Given the description of an element on the screen output the (x, y) to click on. 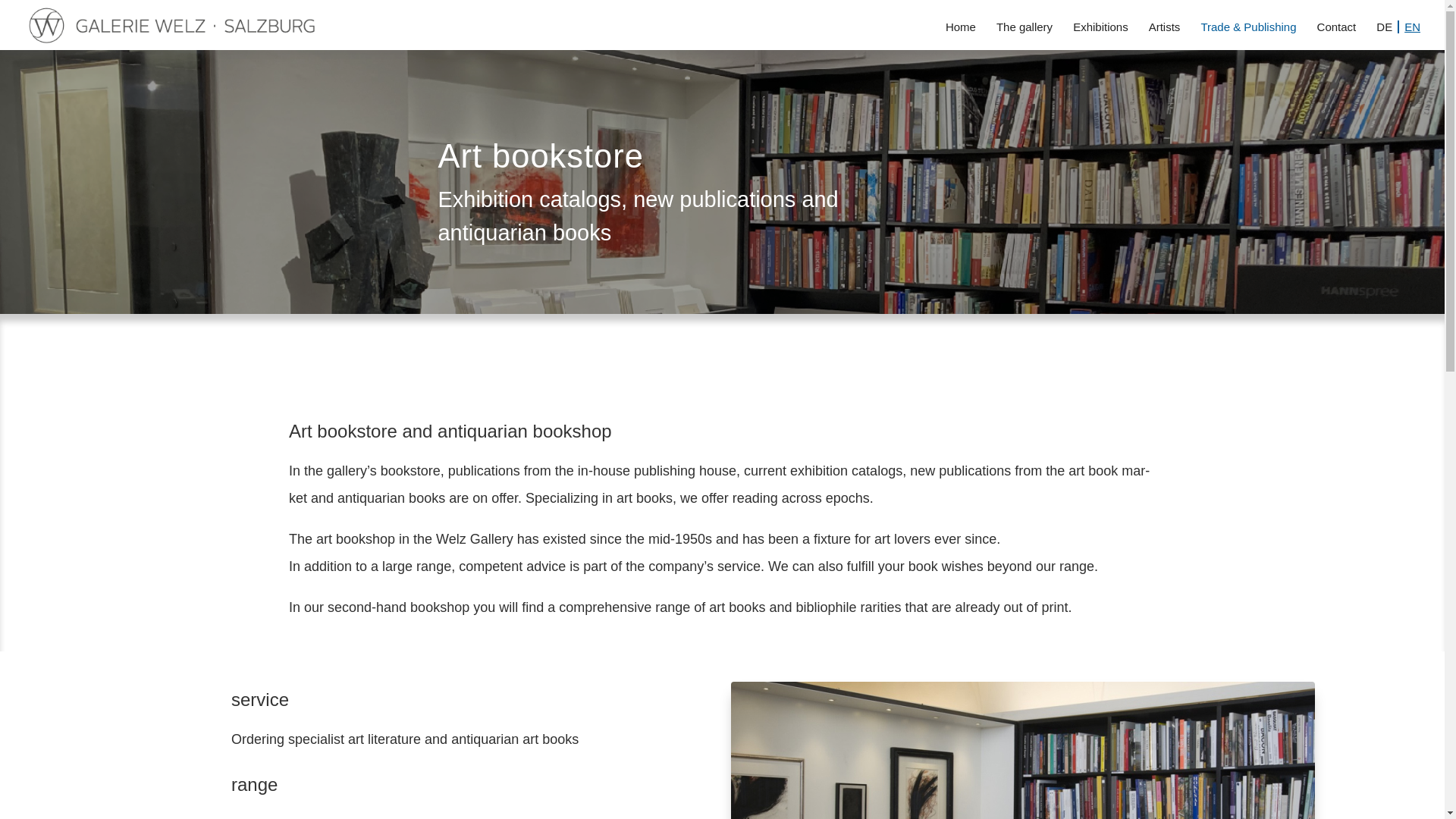
The gallery (1023, 33)
Home (959, 33)
EN (1413, 33)
DE (1387, 33)
Artists (1164, 33)
DE (1387, 33)
Exhibitions (1100, 33)
Contact (1336, 33)
EN (1413, 33)
